Given the description of an element on the screen output the (x, y) to click on. 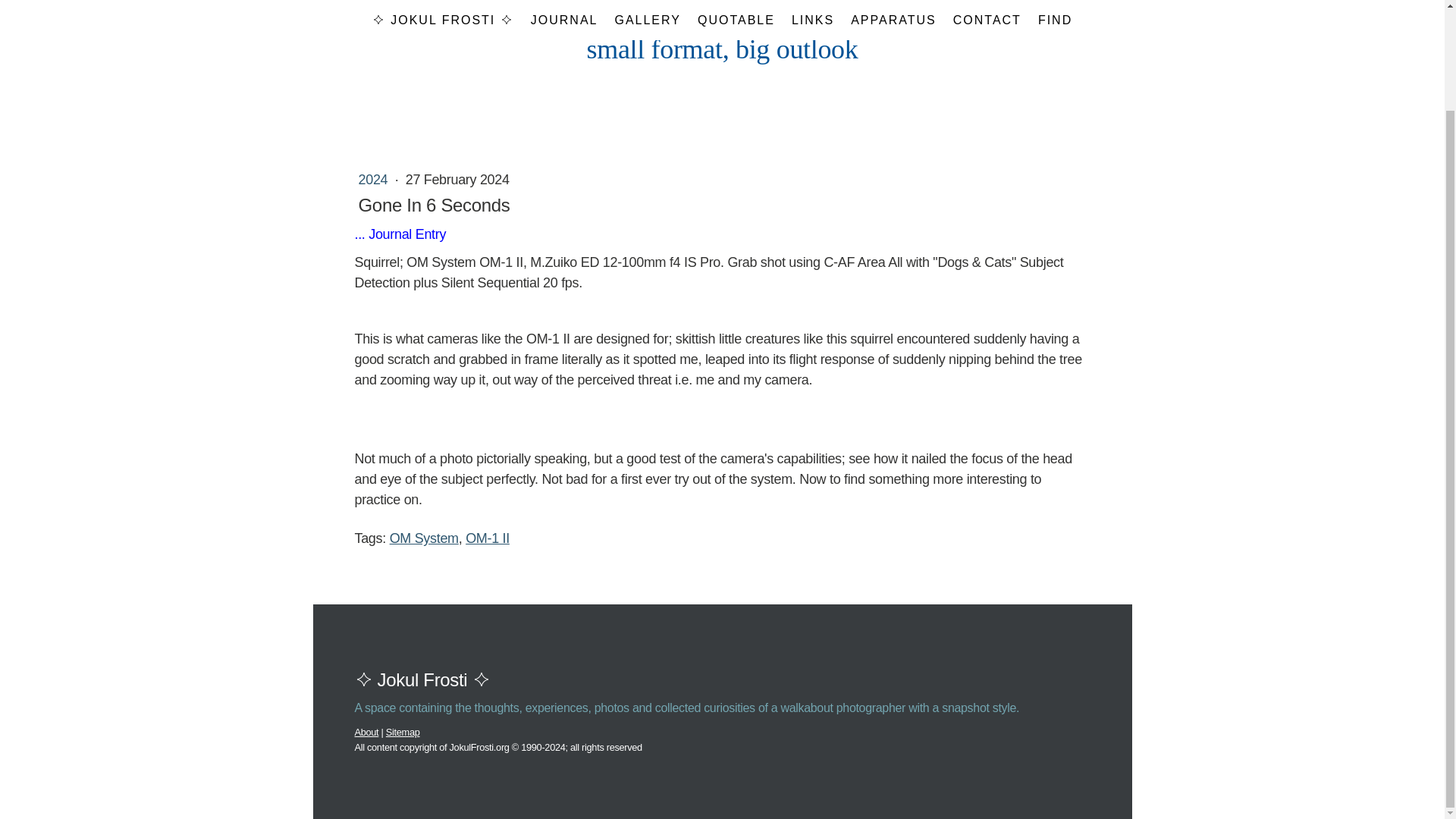
OM-1 II (487, 538)
About (366, 731)
2024 (374, 179)
OM System (424, 538)
Sitemap (402, 731)
